Given the description of an element on the screen output the (x, y) to click on. 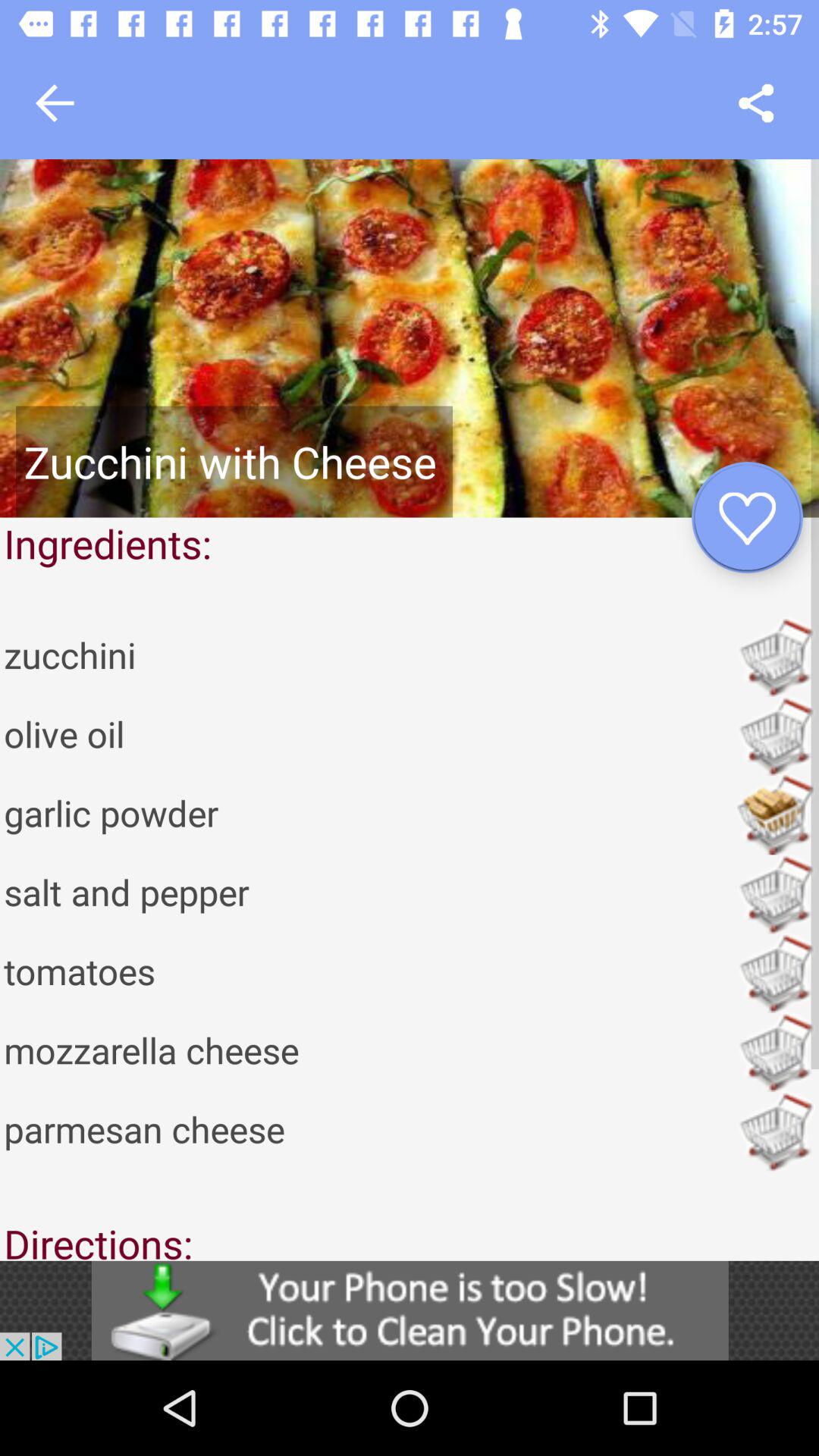
go back (54, 103)
